Given the description of an element on the screen output the (x, y) to click on. 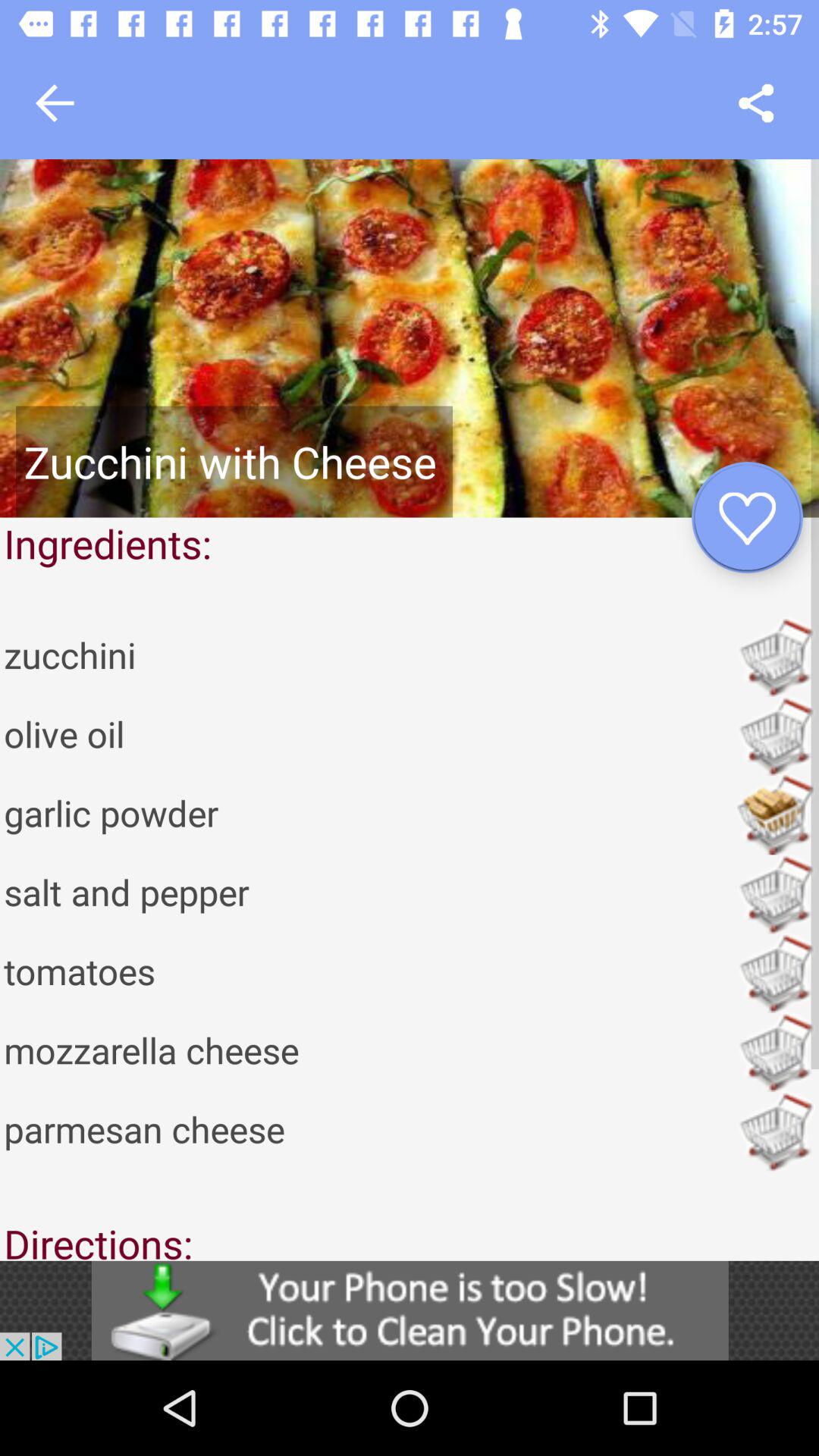
go back (54, 103)
